Given the description of an element on the screen output the (x, y) to click on. 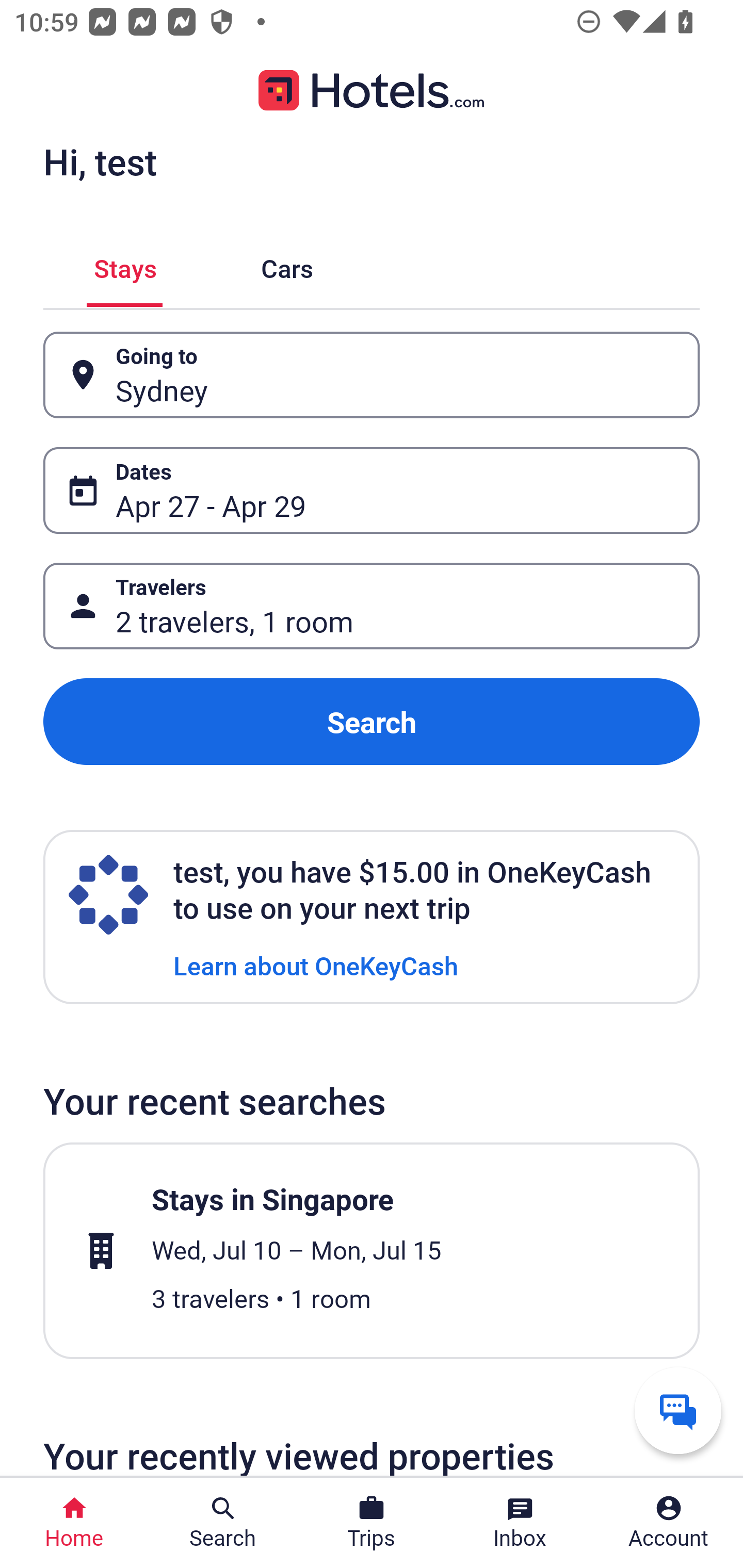
Hi, test (99, 161)
Cars (286, 265)
Going to Button Sydney (371, 375)
Dates Button Apr 27 - Apr 29 (371, 489)
Travelers Button 2 travelers, 1 room (371, 605)
Search (371, 721)
Learn about OneKeyCash Learn about OneKeyCash Link (315, 964)
Get help from a virtual agent (677, 1410)
Search Search Button (222, 1522)
Trips Trips Button (371, 1522)
Inbox Inbox Button (519, 1522)
Account Profile. Button (668, 1522)
